Given the description of an element on the screen output the (x, y) to click on. 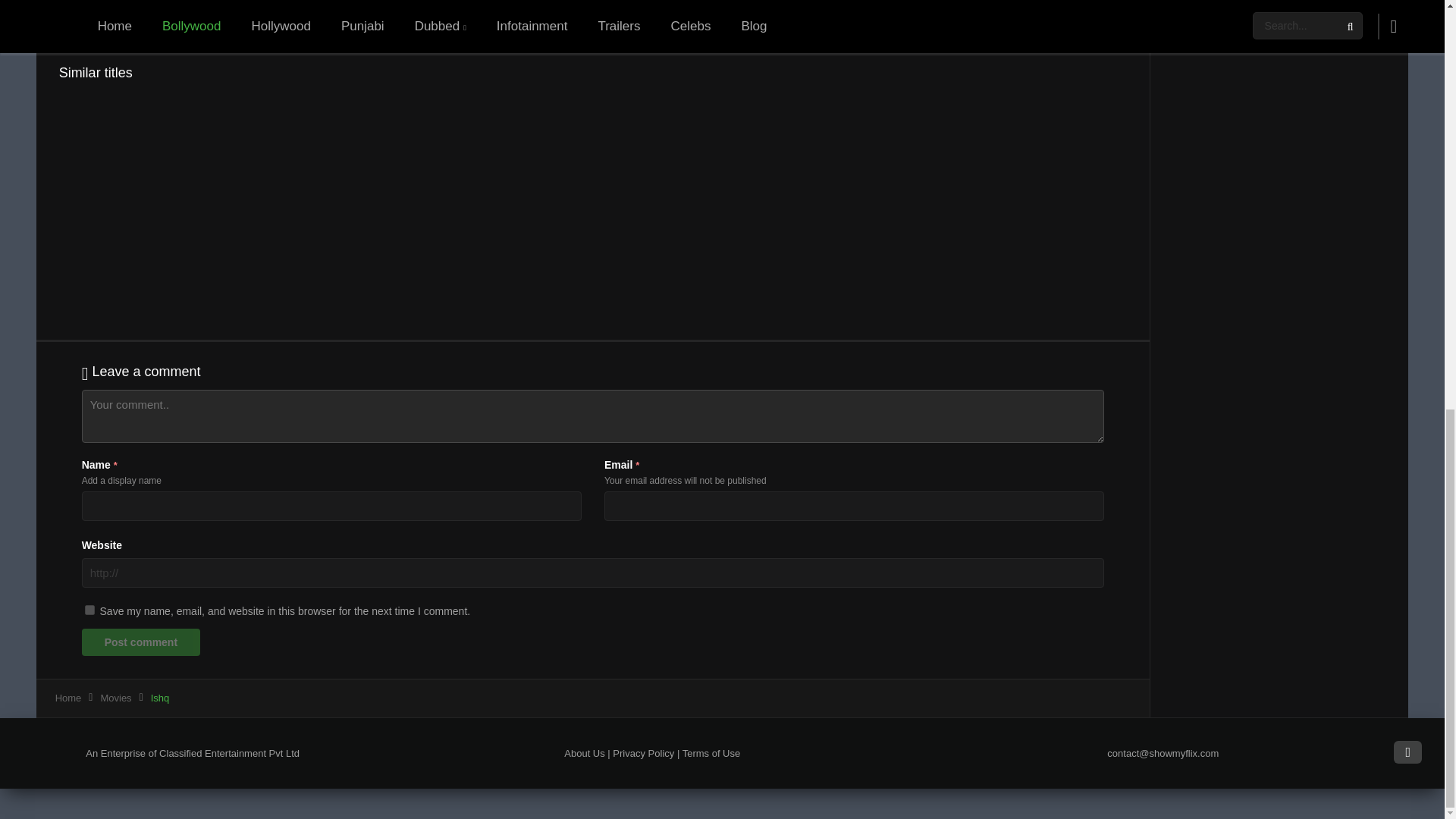
Post comment (140, 642)
yes (89, 610)
